Given the description of an element on the screen output the (x, y) to click on. 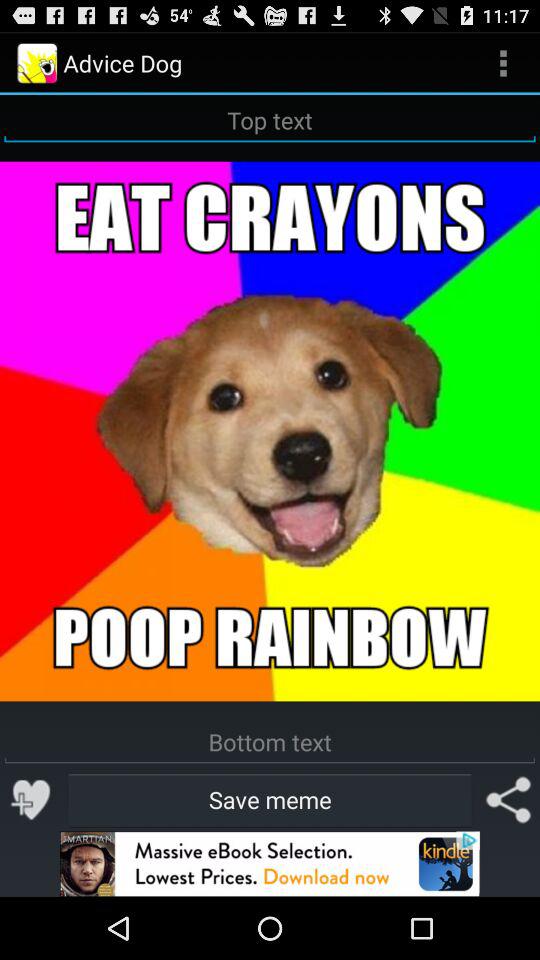
top text (270, 120)
